Given the description of an element on the screen output the (x, y) to click on. 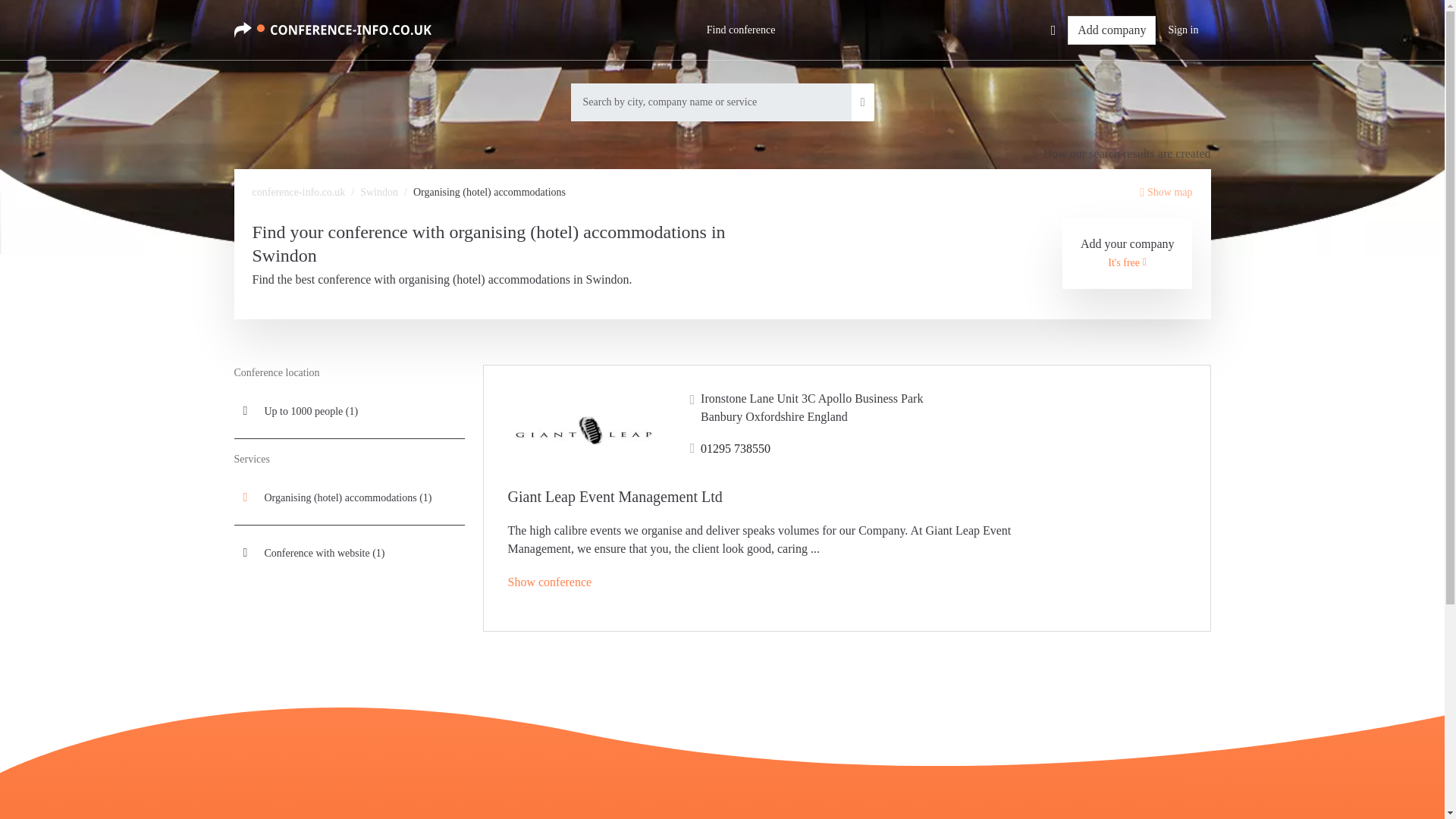
Find conference (740, 29)
Add company (1111, 29)
